Given the description of an element on the screen output the (x, y) to click on. 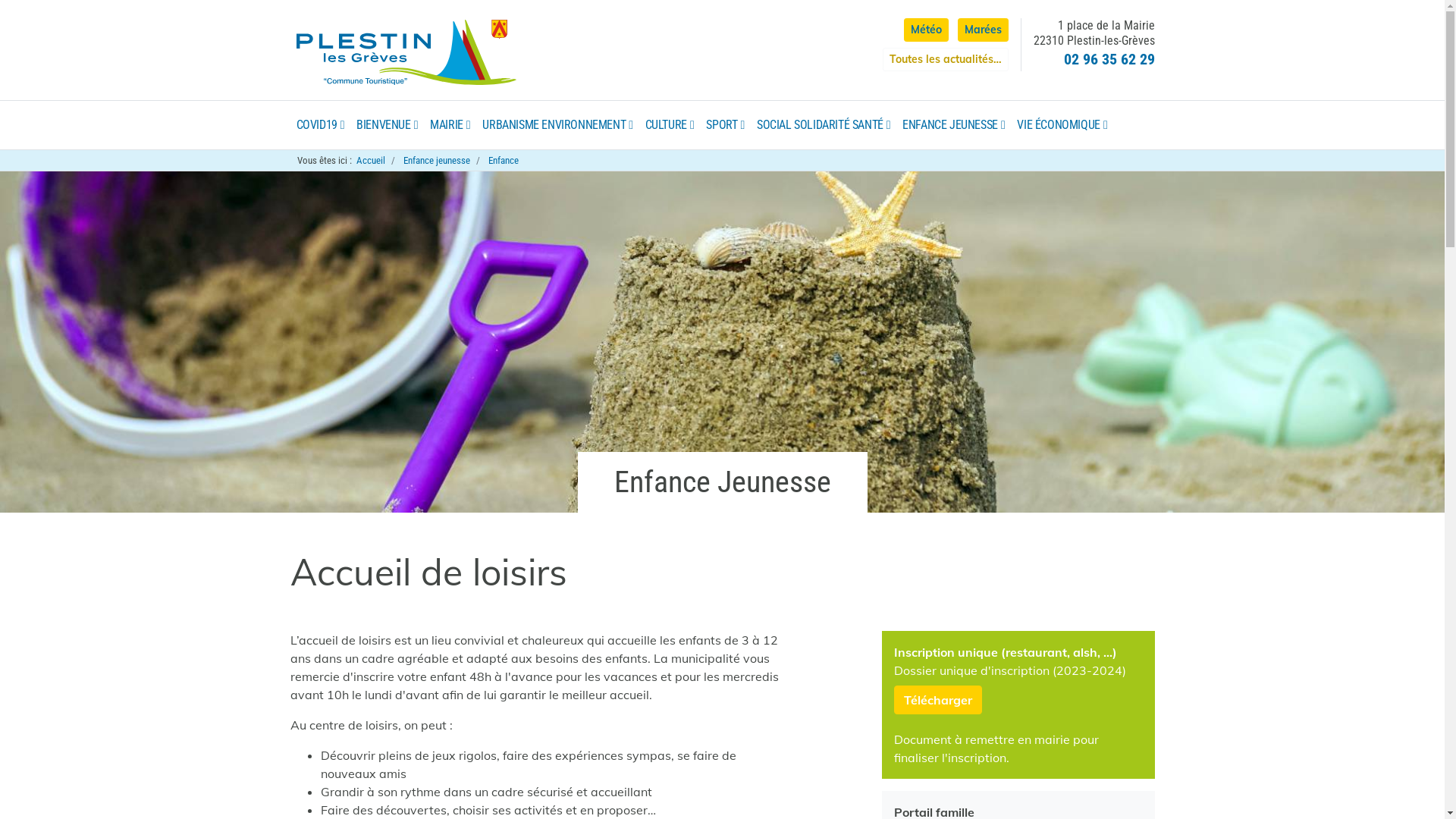
02 96 35 62 29 Element type: text (1108, 59)
MAIRIE Element type: text (449, 124)
CULTURE Element type: text (669, 124)
COVID19 Element type: text (319, 124)
Enfance Element type: text (503, 160)
Accueil Element type: text (370, 160)
Enfance jeunesse Element type: text (436, 160)
BIENVENUE Element type: text (386, 124)
ENFANCE JEUNESSE Element type: text (953, 124)
URBANISME ENVIRONNEMENT Element type: text (557, 124)
SPORT Element type: text (724, 124)
